Given the description of an element on the screen output the (x, y) to click on. 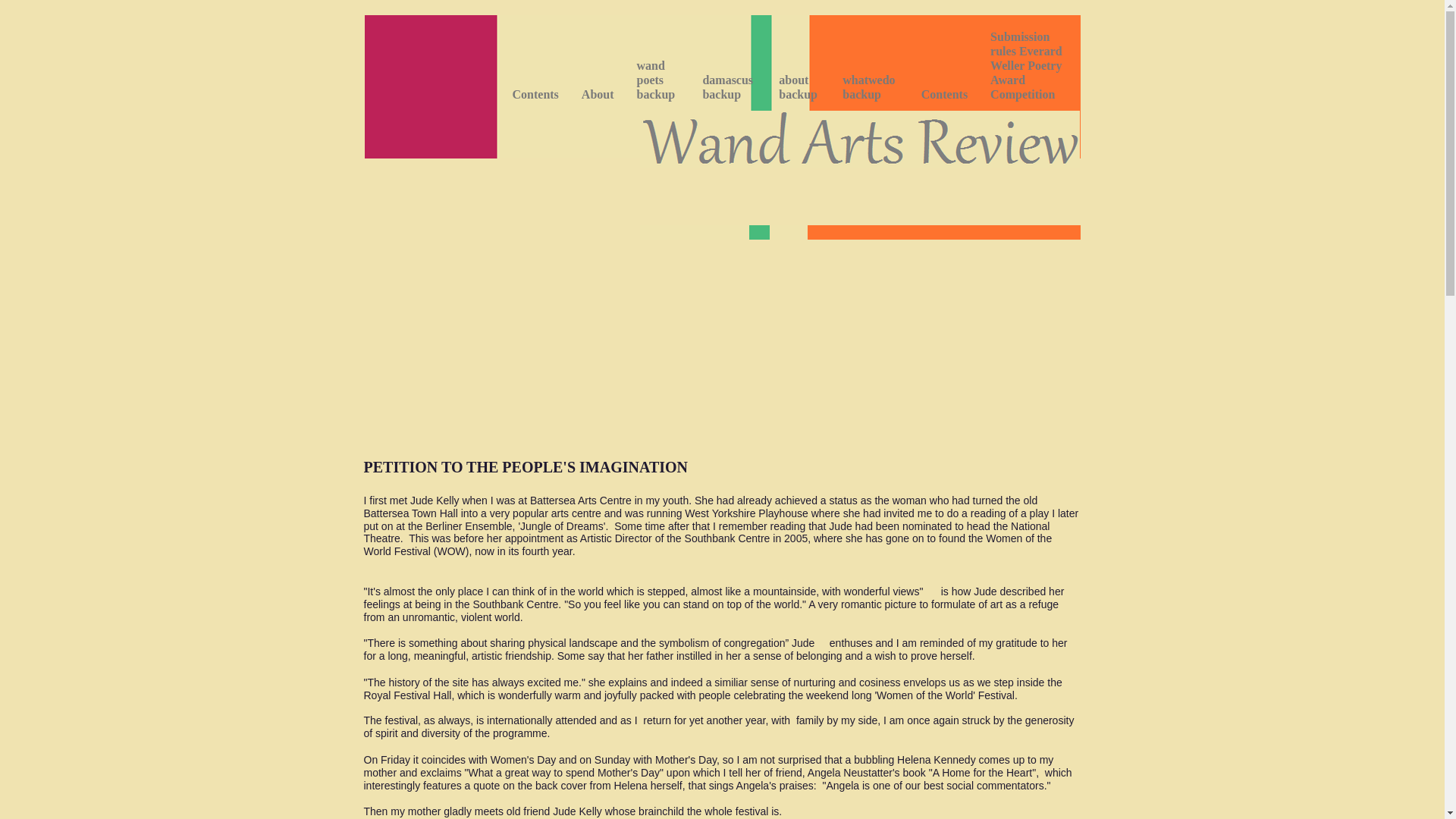
damascus backup (728, 88)
about backup (799, 88)
Contents (944, 95)
whatwedo backup (870, 88)
About (598, 95)
Submission rules Everard Weller Poetry Award Competition (1031, 66)
Contents (534, 95)
wand poets backup (658, 81)
